Given the description of an element on the screen output the (x, y) to click on. 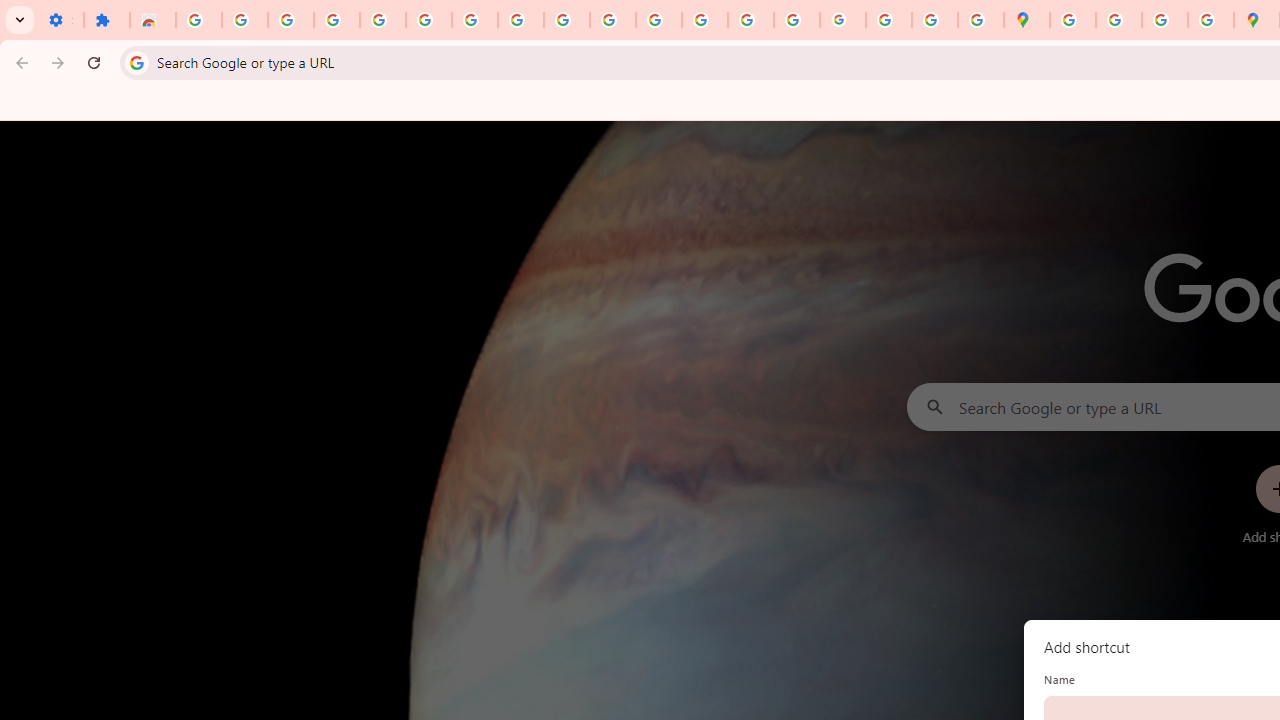
https://scholar.google.com/ (659, 20)
Settings - On startup (60, 20)
Google Account (520, 20)
Delete photos & videos - Computer - Google Photos Help (290, 20)
Reviews: Helix Fruit Jump Arcade Game (153, 20)
Safety in Our Products - Google Safety Center (1210, 20)
